Given the description of an element on the screen output the (x, y) to click on. 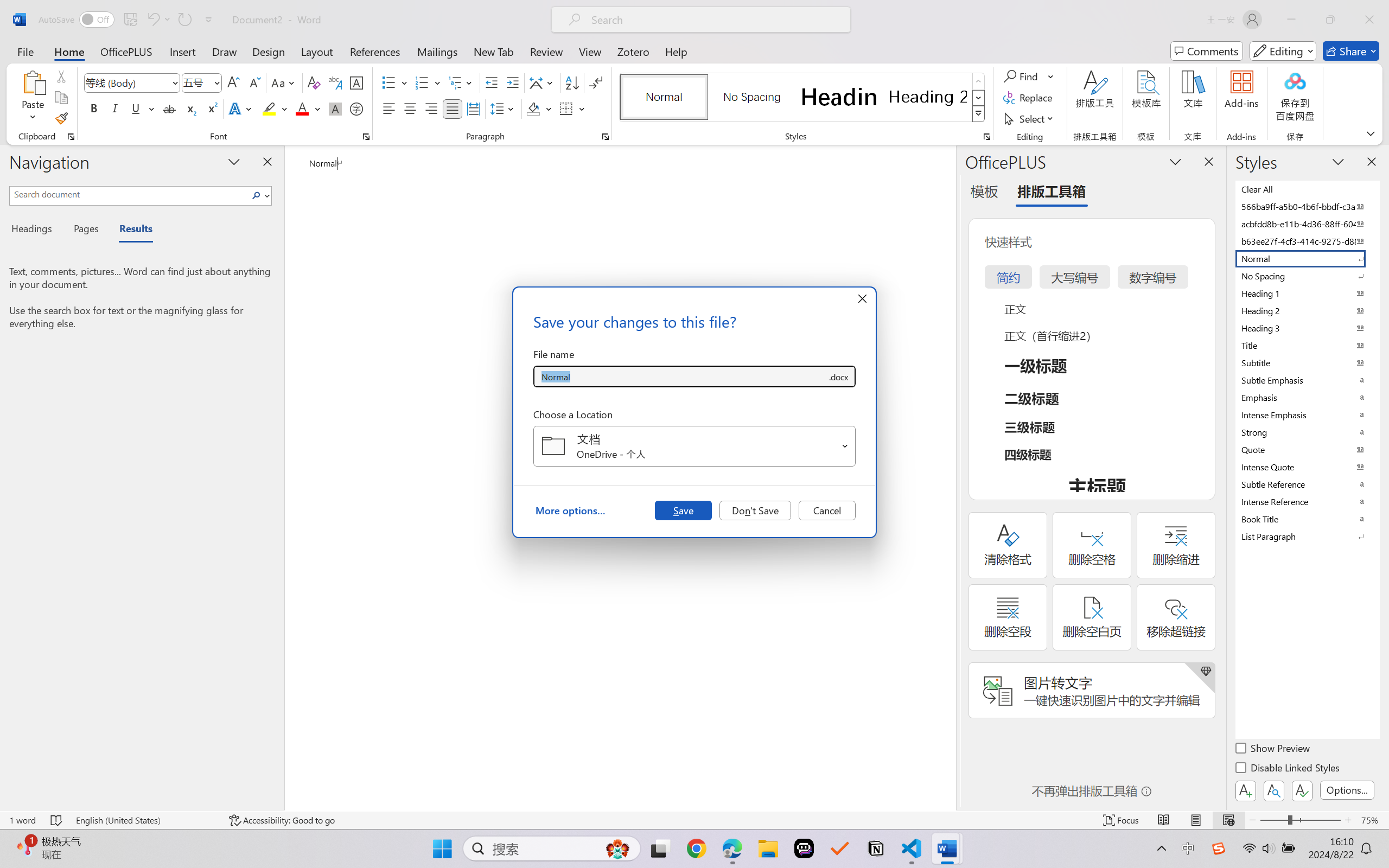
Zoom In (1348, 819)
Character Border (356, 82)
Save as type (837, 376)
Center (409, 108)
Replace... (1029, 97)
Subscript (190, 108)
Web Layout (1228, 819)
b63ee27f-4cf3-414c-9275-d88e3f90795e (1306, 240)
Subtitle (1306, 362)
Search (256, 195)
